Given the description of an element on the screen output the (x, y) to click on. 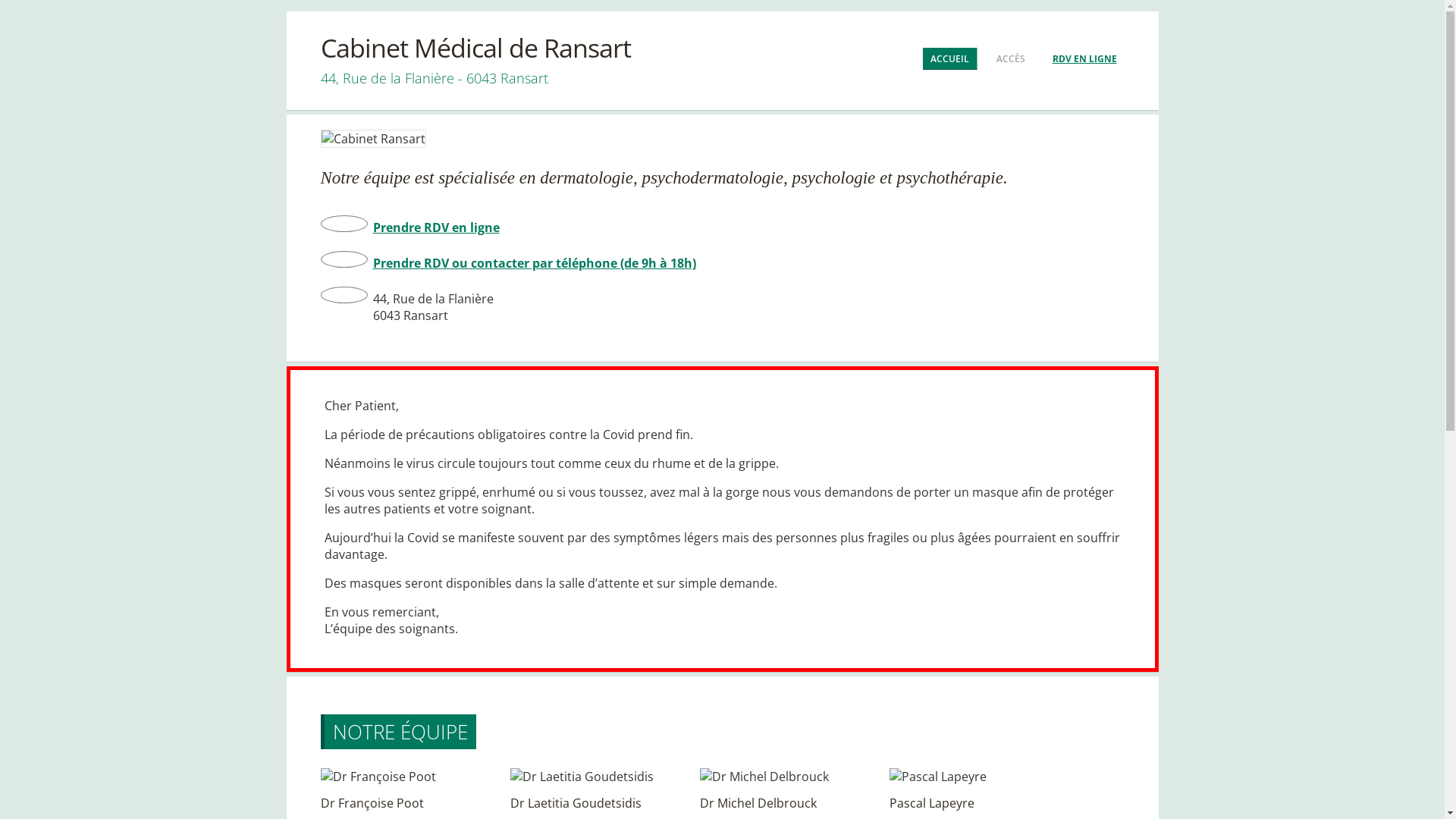
RDV EN LIGNE Element type: text (1084, 58)
ACCUEIL Element type: text (949, 58)
Prendre RDV en ligne Element type: text (436, 227)
